Given the description of an element on the screen output the (x, y) to click on. 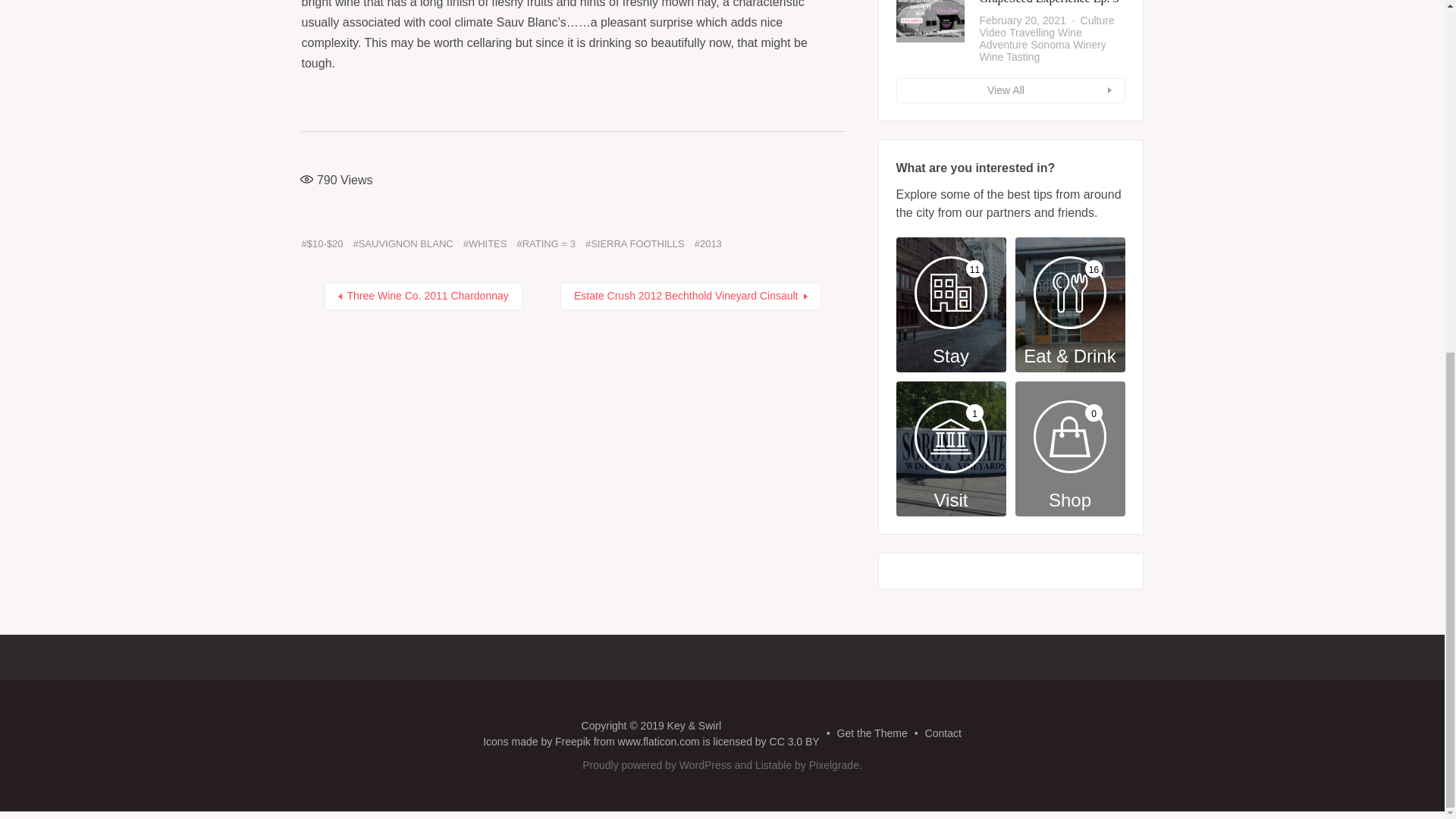
Flaticon (658, 741)
Three Wine Co. 2011 Chardonnay (423, 296)
SIERRA FOOTHILLS (634, 243)
WHITES (484, 243)
Freepik (572, 741)
Creative Commons BY 3.0 (794, 741)
2013 (708, 243)
SAUVIGNON BLANC (402, 243)
Estate Crush 2012 Bechthold Vineyard Cinsault (690, 296)
Page 1 (572, 36)
